Given the description of an element on the screen output the (x, y) to click on. 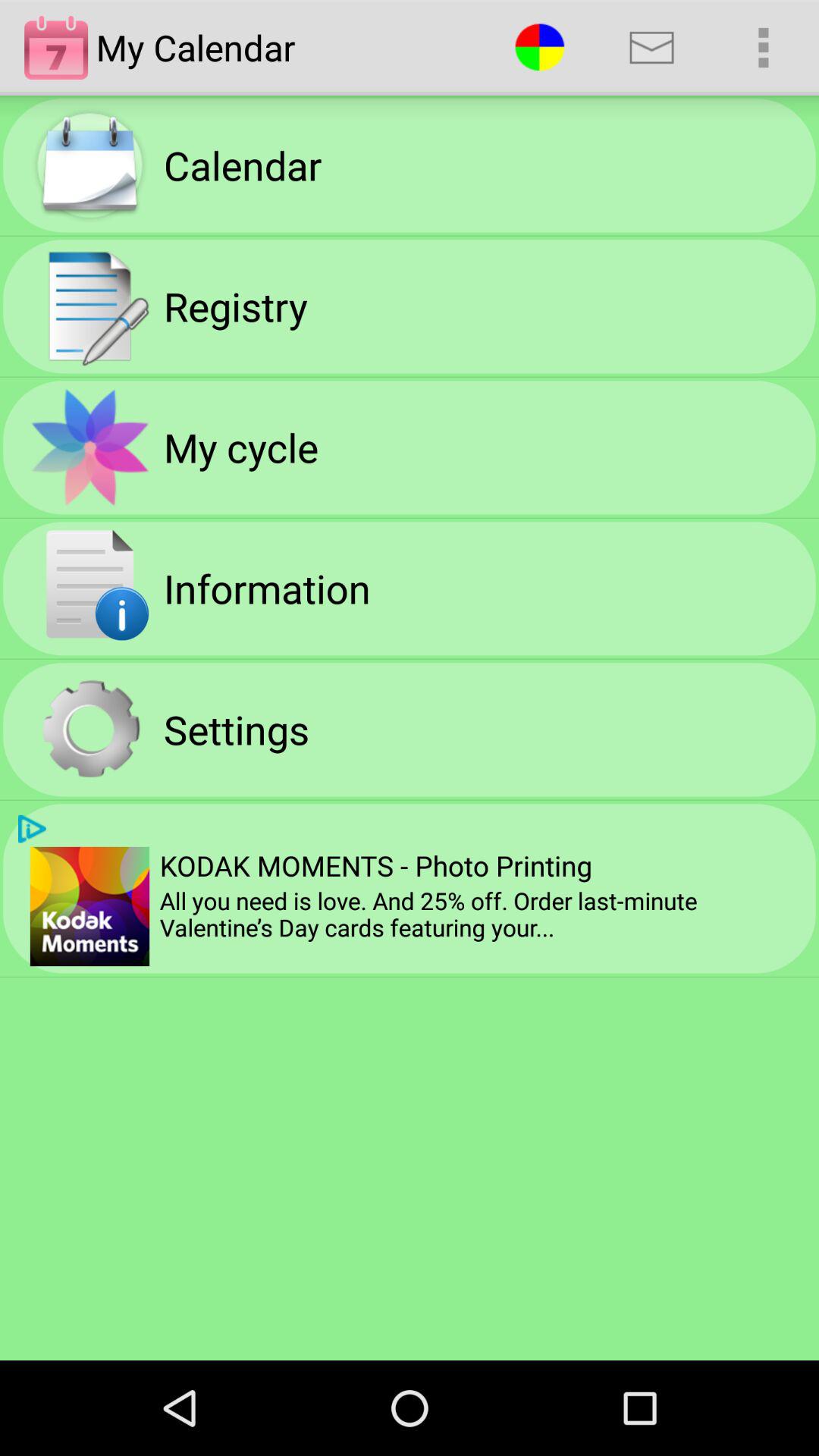
swipe to the information app (266, 587)
